Given the description of an element on the screen output the (x, y) to click on. 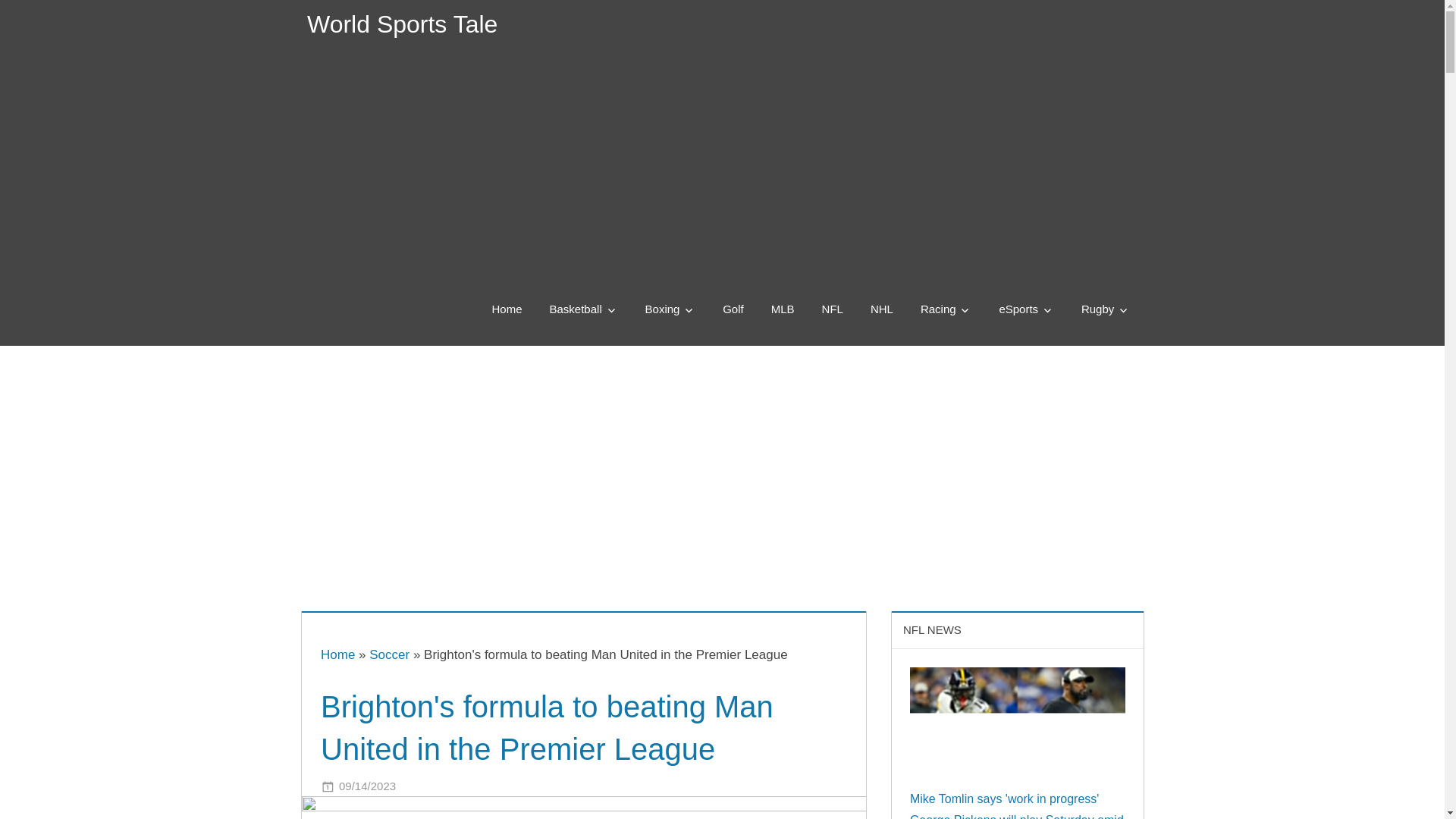
NHL (882, 308)
Rugby (1104, 308)
NFL (832, 308)
MLB (782, 308)
Soccer (389, 654)
World Sports Tale (402, 23)
Home (506, 308)
Home (337, 654)
eSports (1026, 308)
Racing (946, 308)
20:34 (367, 785)
